Given the description of an element on the screen output the (x, y) to click on. 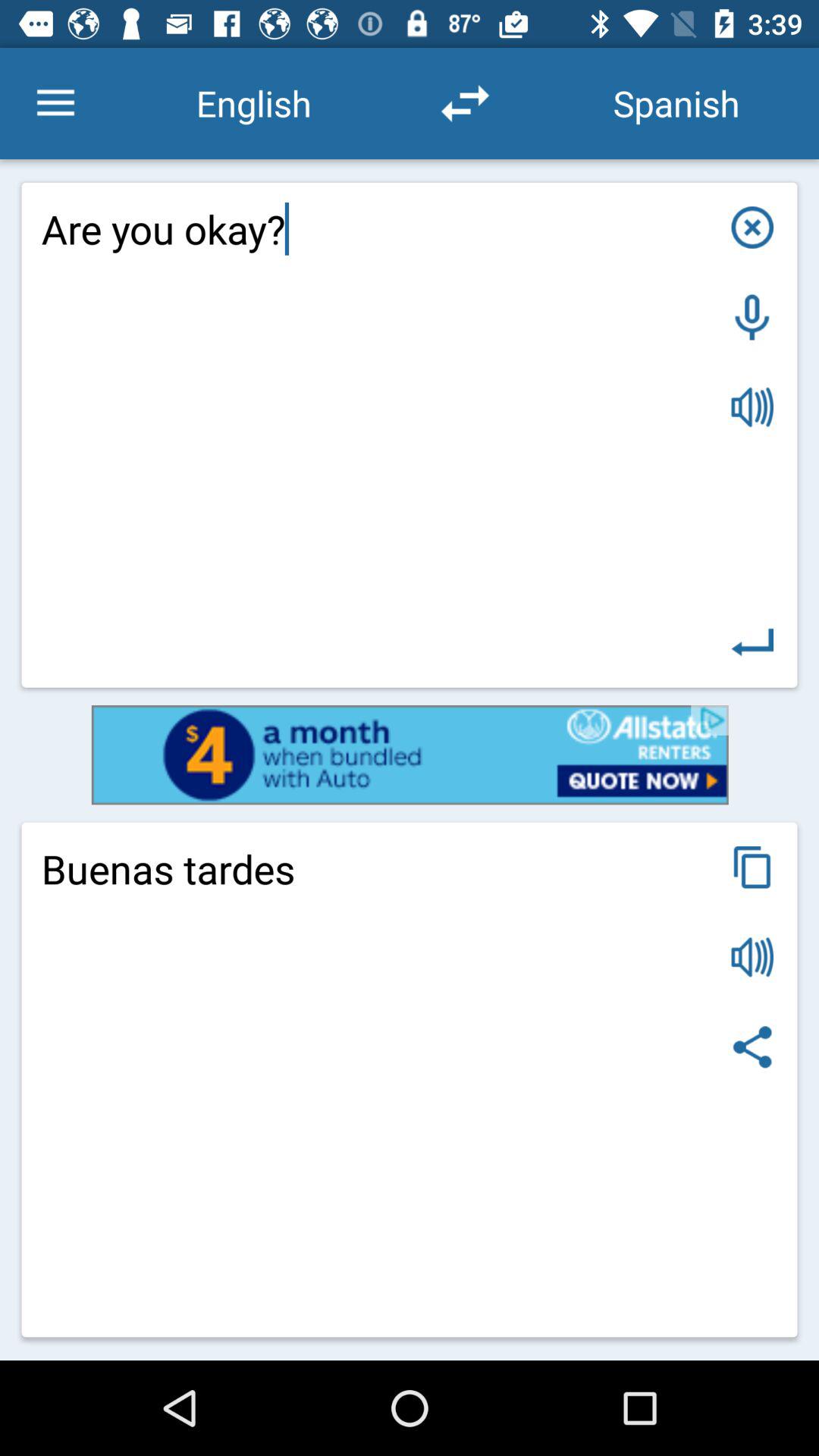
click for speaker volume (752, 957)
